Given the description of an element on the screen output the (x, y) to click on. 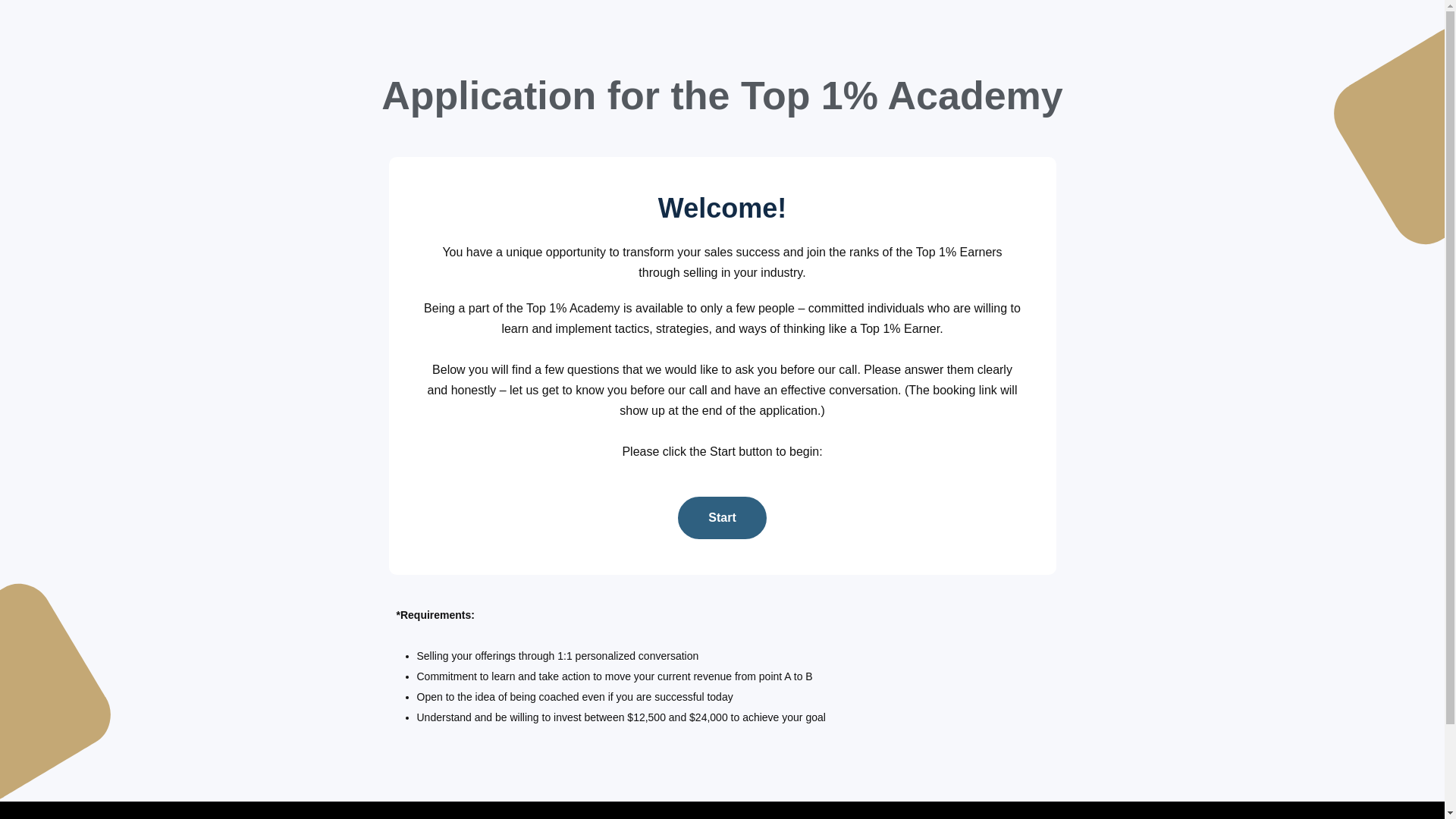
Start (722, 517)
